Given the description of an element on the screen output the (x, y) to click on. 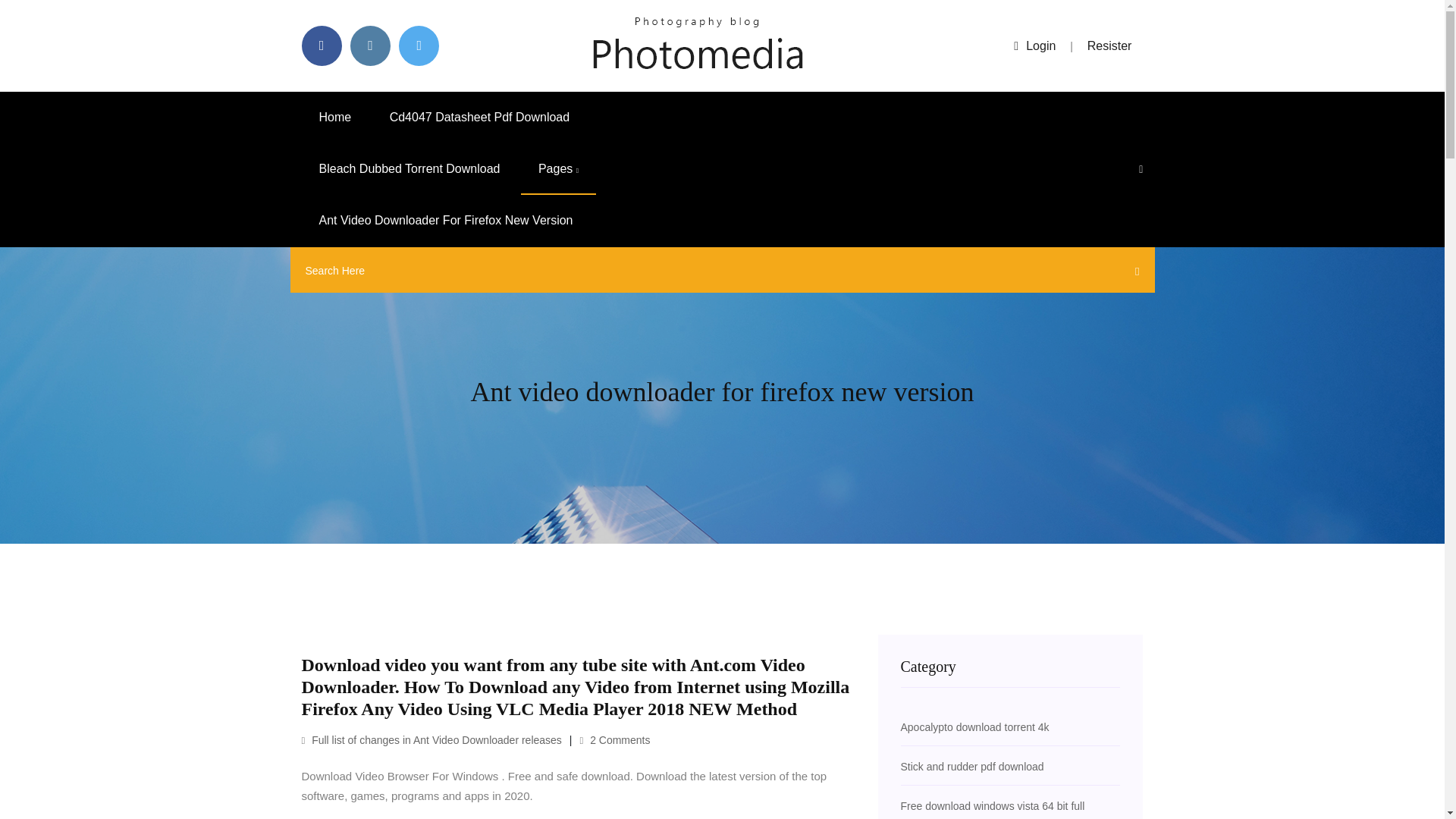
Bleach Dubbed Torrent Download (409, 168)
Pages (558, 168)
Cd4047 Datasheet Pdf Download (480, 117)
Ant Video Downloader For Firefox New Version (446, 220)
Full list of changes in Ant Video Downloader releases (431, 739)
2 Comments (614, 739)
Home (335, 117)
Login (1034, 45)
Resister (1109, 45)
